Given the description of an element on the screen output the (x, y) to click on. 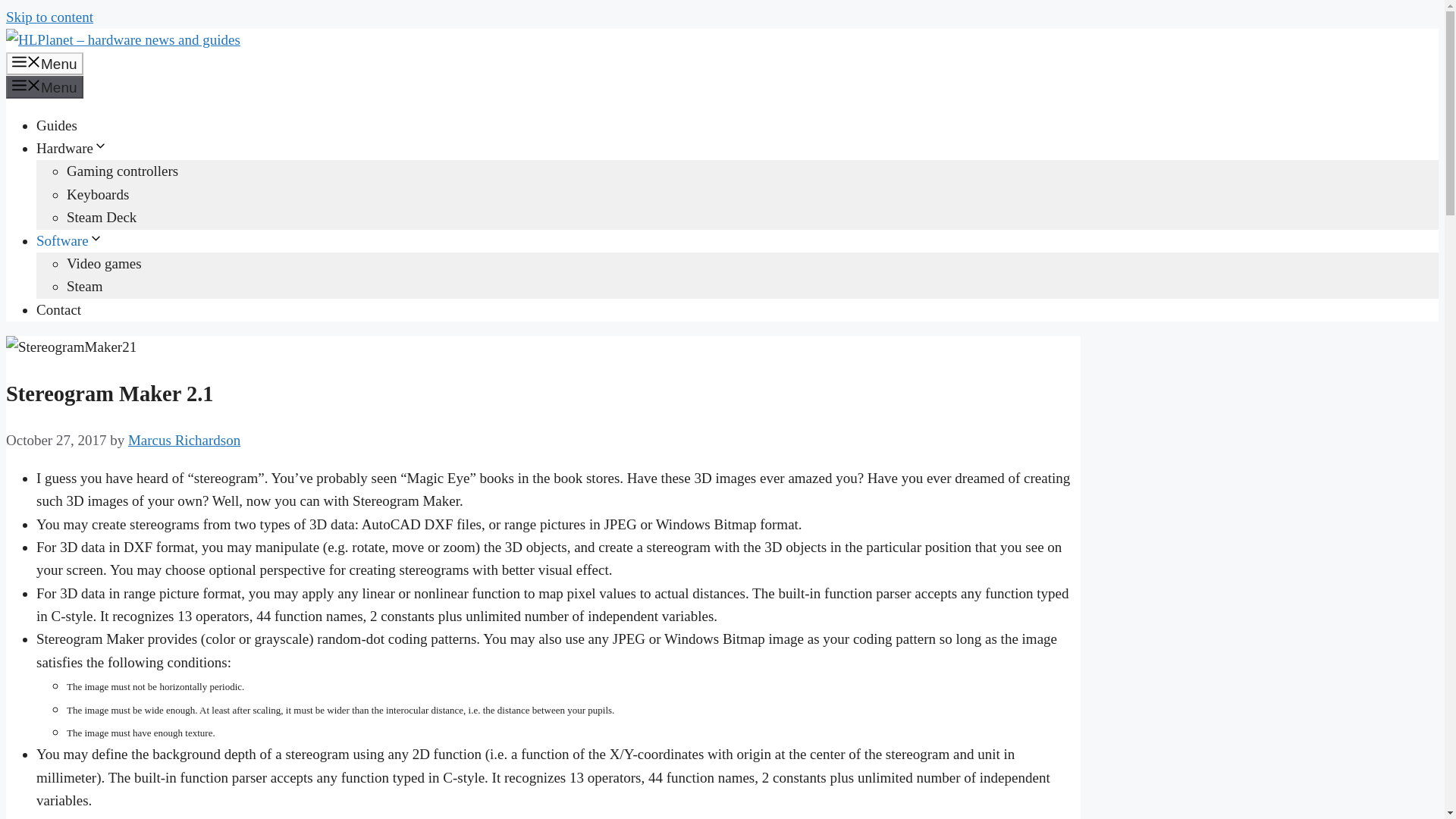
Skip to content (49, 17)
Video games (103, 263)
Keyboards (97, 194)
Menu (43, 63)
Contact (58, 309)
Menu (43, 87)
Steam Deck (101, 217)
Stereogram Maker 2.1 1 (70, 346)
Steam (84, 286)
Marcus Richardson (184, 439)
View all posts by Marcus Richardson (184, 439)
Gaming controllers (121, 170)
Hardware (71, 148)
Software (69, 240)
Guides (56, 125)
